Given the description of an element on the screen output the (x, y) to click on. 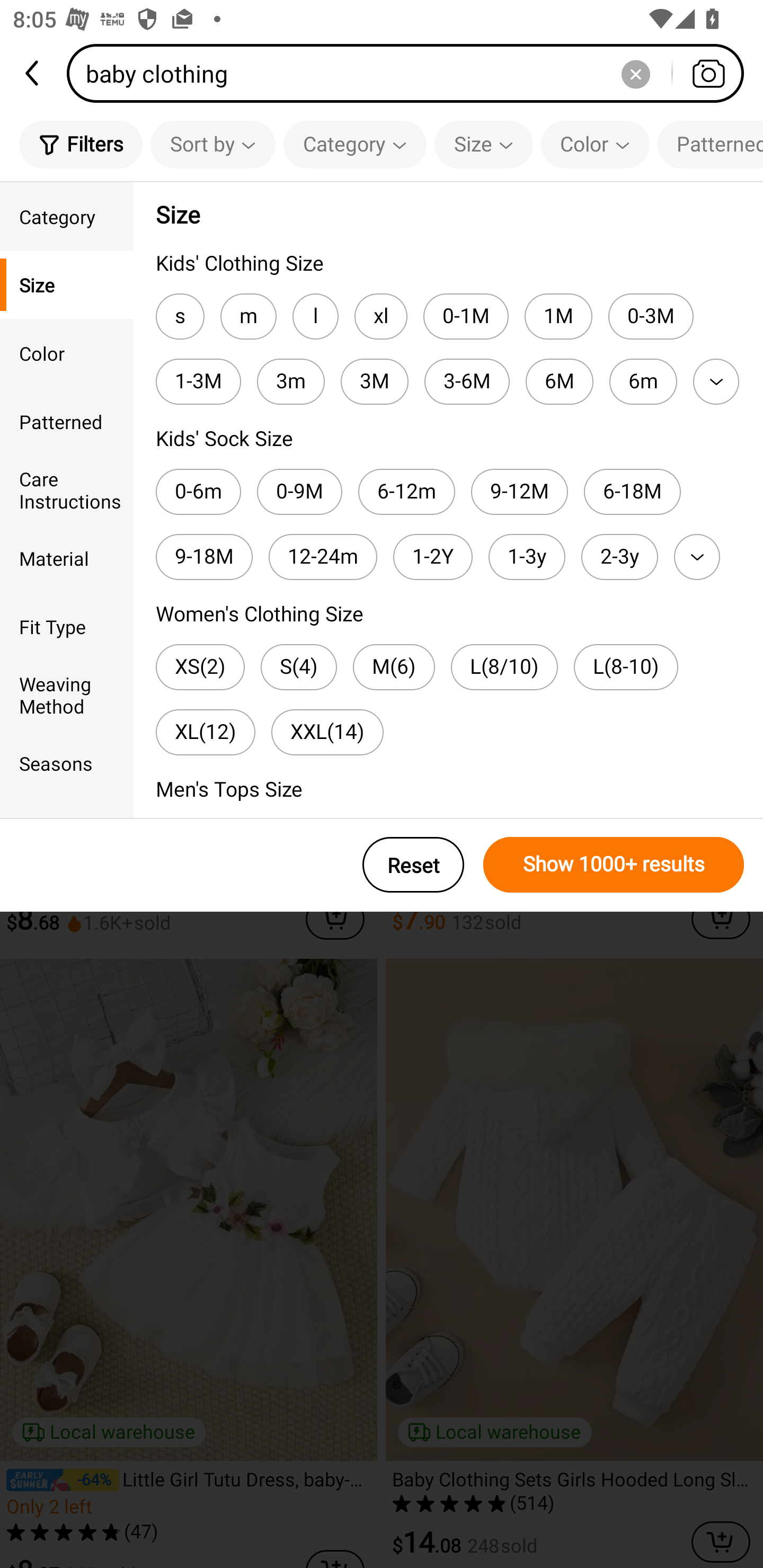
back (33, 72)
baby clothing (411, 73)
Delete search history (635, 73)
Search by photo (708, 73)
Filters (80, 143)
Sort by (212, 143)
Category (354, 143)
Size (483, 143)
Color (594, 143)
Patterned (710, 143)
Category (66, 215)
Size (66, 284)
s (179, 316)
m (248, 316)
l (315, 316)
xl (380, 316)
0-1M (465, 316)
1M (558, 316)
0-3M (650, 316)
Color (66, 352)
1-3M (198, 381)
3m (291, 381)
3M (374, 381)
3-6M (466, 381)
6M (559, 381)
6m (643, 381)
More (715, 381)
Patterned (66, 421)
Care Instructions (66, 489)
0-6m (198, 491)
0-9M (299, 491)
6-12m (406, 491)
9-12M (518, 491)
6-18M (631, 491)
Material (66, 557)
9-18M (203, 557)
12-24m (322, 557)
1-2Y (432, 557)
1-3y (526, 557)
2-3y (619, 557)
More (696, 557)
Fit Type (66, 626)
XS(2) (199, 666)
S(4) (298, 666)
M(6) (393, 666)
L(8/10) (503, 666)
L(8-10) (625, 666)
Weaving Method (66, 694)
XL(12) (205, 731)
XXL(14) (327, 731)
Seasons (66, 762)
Reset (412, 864)
Show 1000+ results (612, 864)
